Given the description of an element on the screen output the (x, y) to click on. 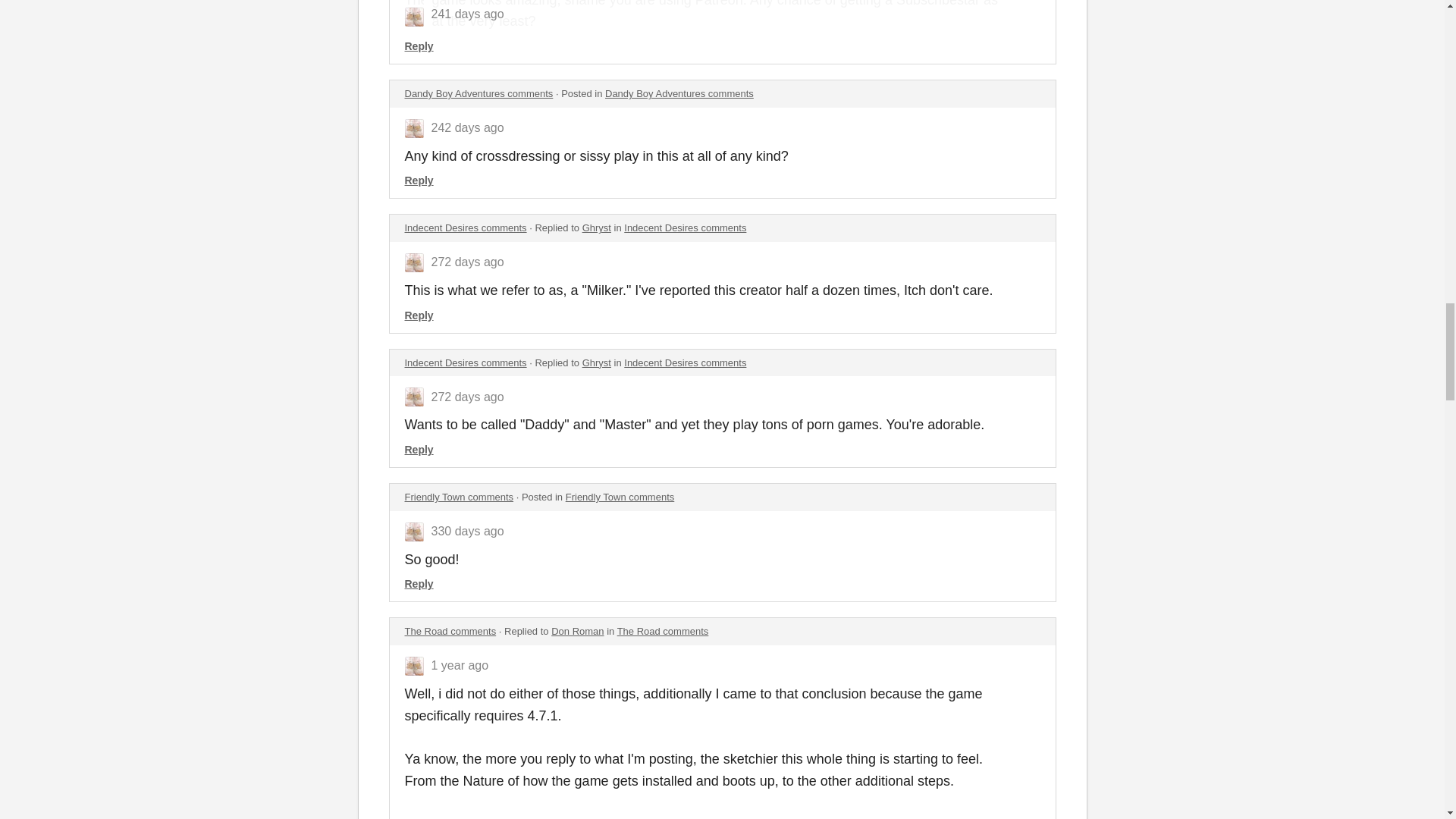
2023-11-05 09:45:56 (466, 396)
2023-11-05 09:46:59 (466, 261)
2023-12-06 00:42:10 (466, 127)
